Given the description of an element on the screen output the (x, y) to click on. 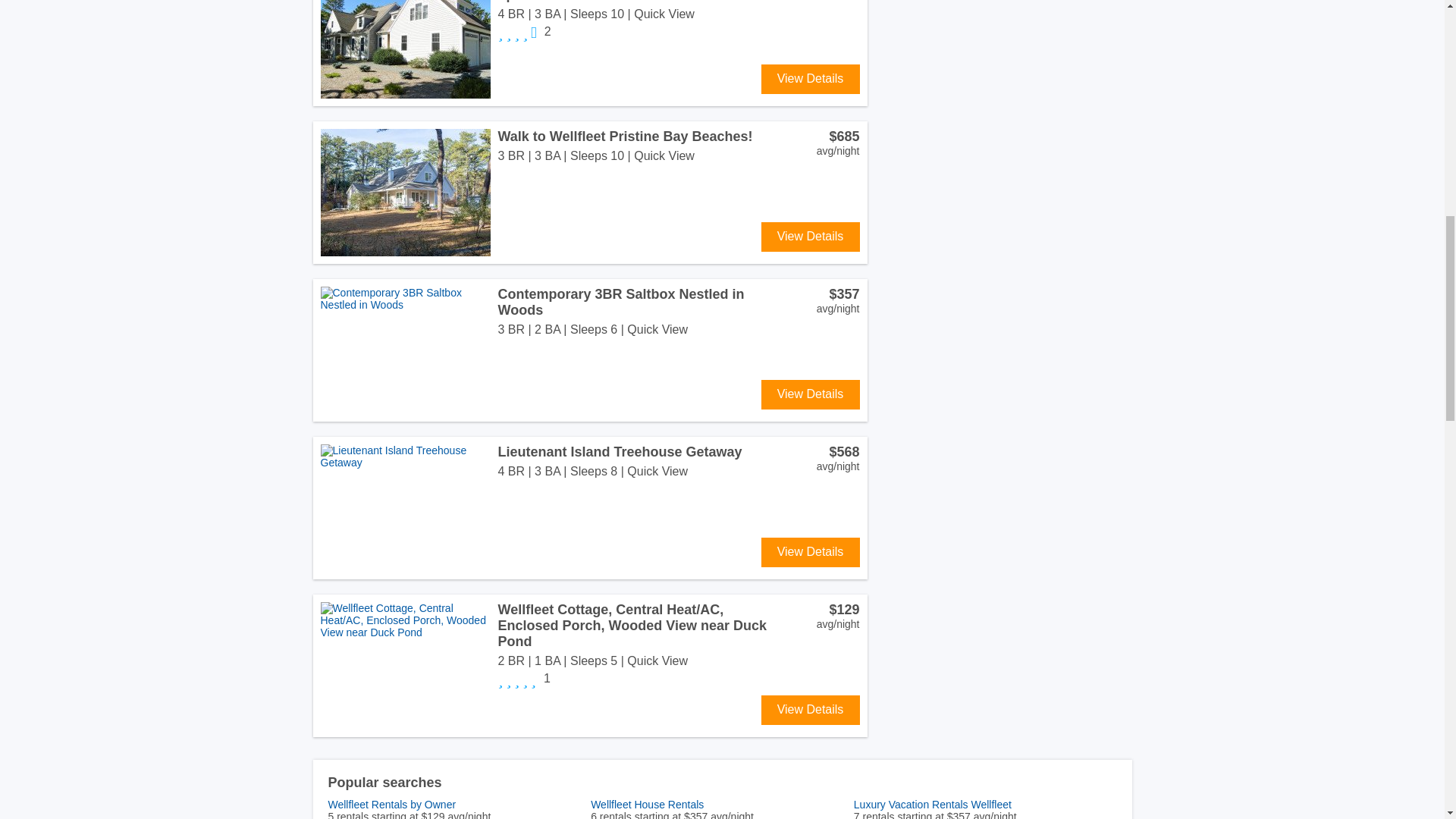
Walk to Wellfleet Pristine Bay Beaches! (624, 136)
Quick View (663, 13)
View Details (810, 79)
Wellfleet House Rentals (722, 804)
Wellfleet Rentals by Owner (459, 804)
Luxury Vacation Rentals Wellfleet (984, 804)
